Given the description of an element on the screen output the (x, y) to click on. 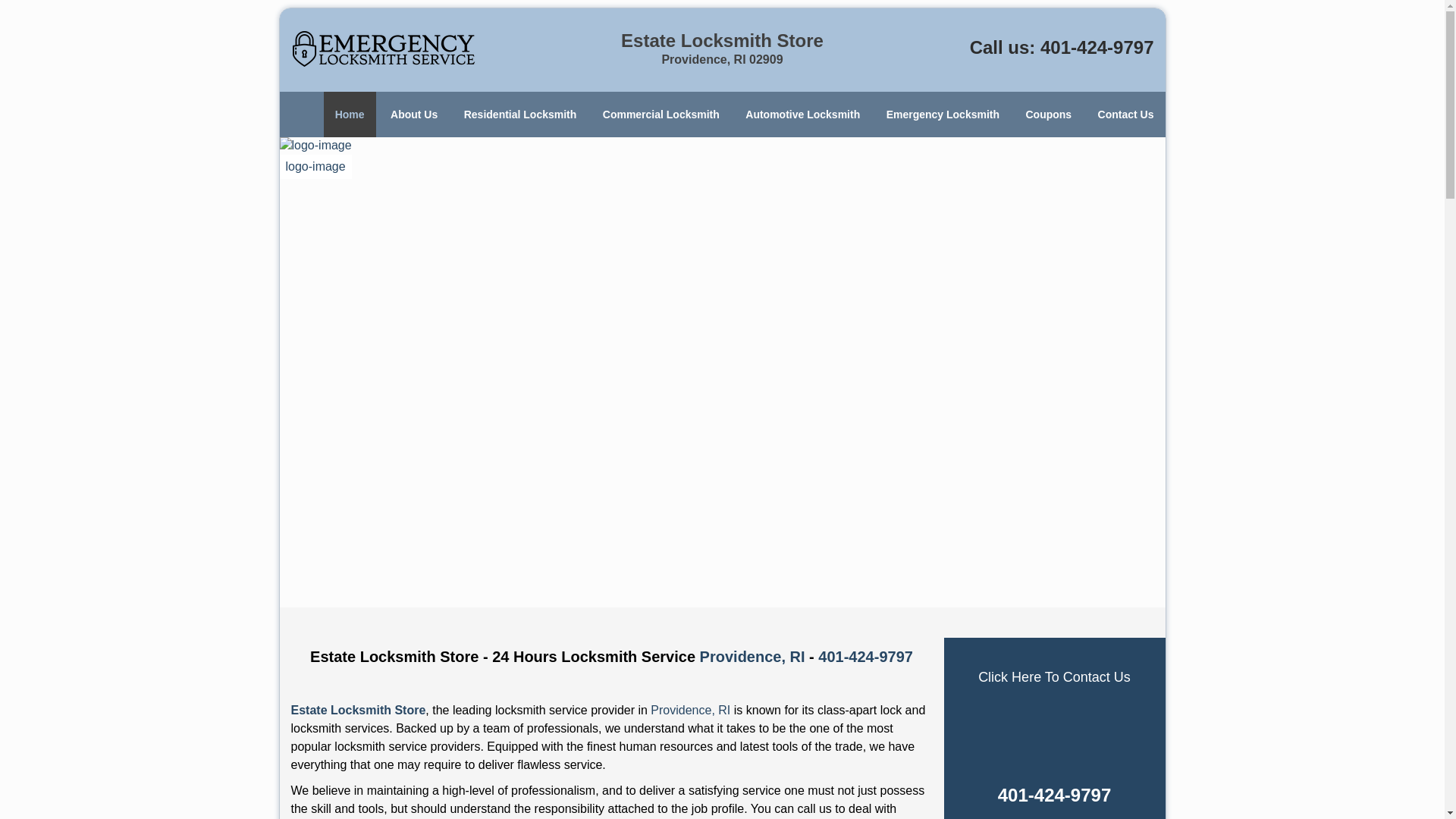
Emergency Locksmith (942, 114)
Residential Locksmith (520, 114)
logo-image (314, 156)
401-424-9797 (1097, 46)
401-424-9797 (865, 656)
About Us (413, 114)
Providence, RI (690, 709)
Home (349, 114)
Commercial Locksmith (660, 114)
Automotive Locksmith (801, 114)
Coupons (1048, 114)
401-424-9797 (1053, 795)
Contact Us (1126, 114)
Providence, RI (752, 656)
Estate Locksmith Store (358, 709)
